Given the description of an element on the screen output the (x, y) to click on. 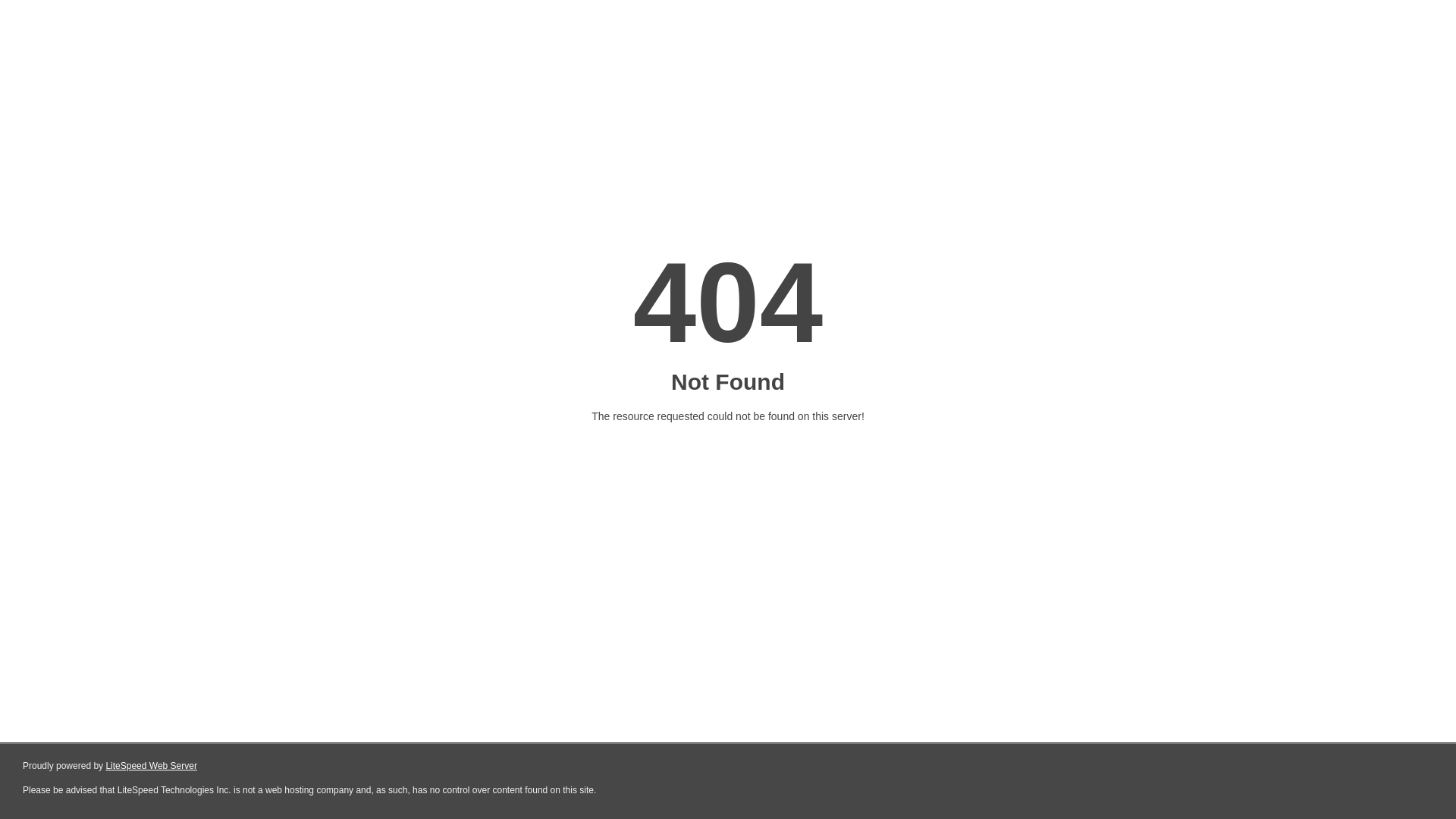
LiteSpeed Web Server Element type: text (151, 765)
